Given the description of an element on the screen output the (x, y) to click on. 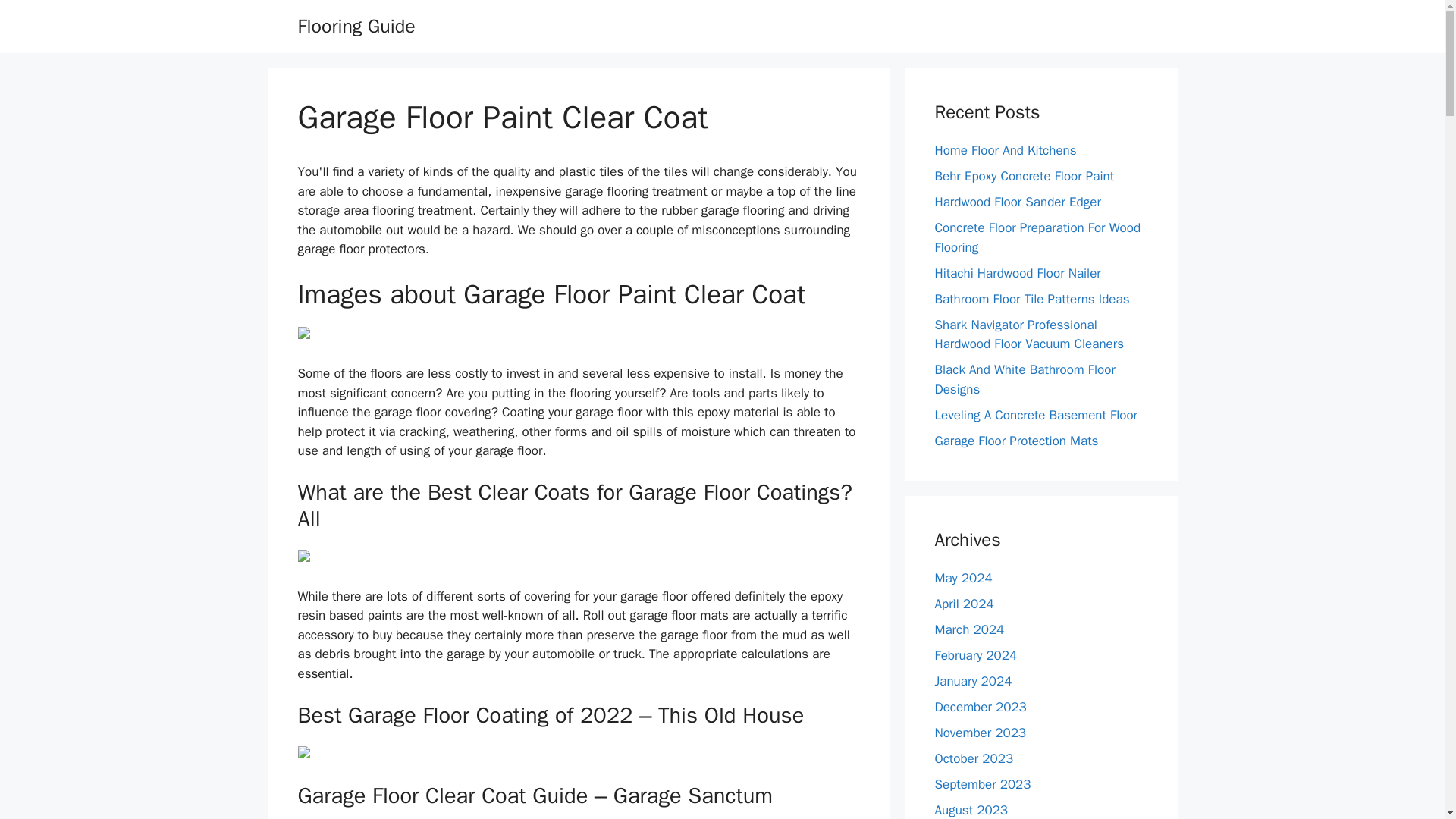
Flooring Guide (355, 25)
Behr Epoxy Concrete Floor Paint (1023, 176)
October 2023 (973, 758)
February 2024 (975, 655)
January 2024 (972, 681)
March 2024 (969, 629)
December 2023 (980, 706)
Concrete Floor Preparation For Wood Flooring (1037, 237)
Hardwood Floor Sander Edger (1017, 201)
August 2023 (970, 810)
